Given the description of an element on the screen output the (x, y) to click on. 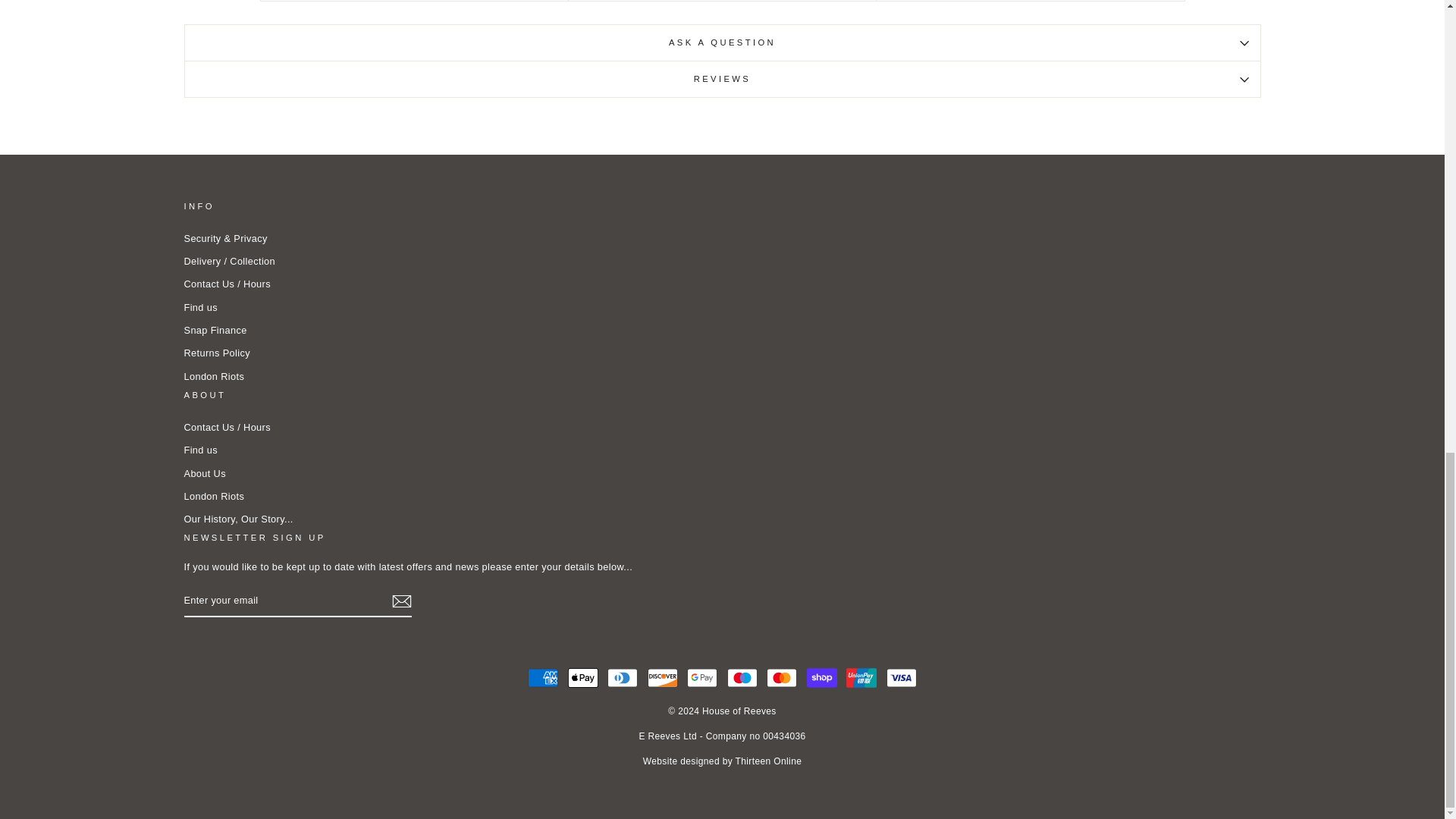
American Express (542, 677)
Diners Club (622, 677)
Discover (662, 677)
Apple Pay (582, 677)
